Given the description of an element on the screen output the (x, y) to click on. 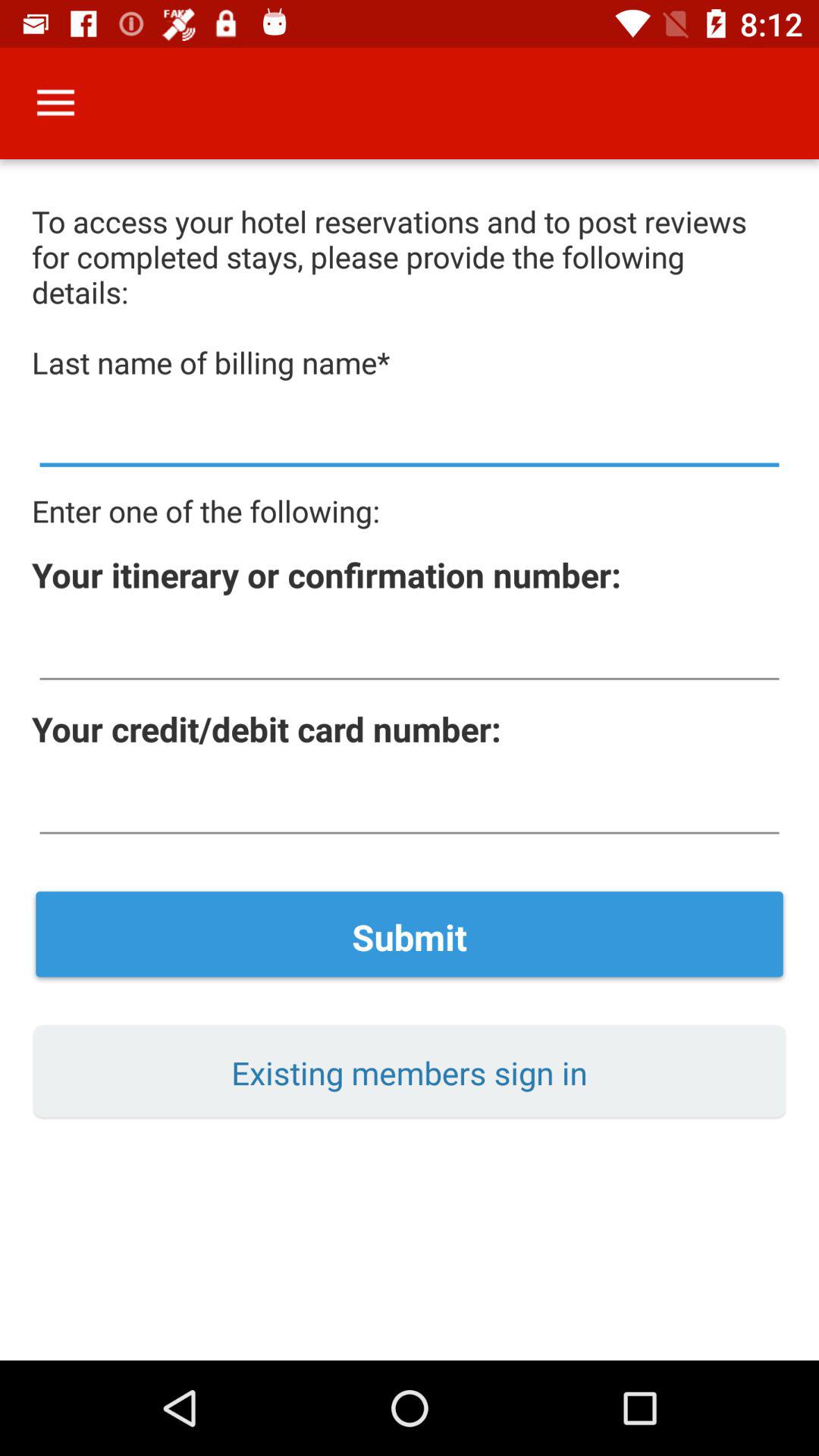
input card number (409, 805)
